Given the description of an element on the screen output the (x, y) to click on. 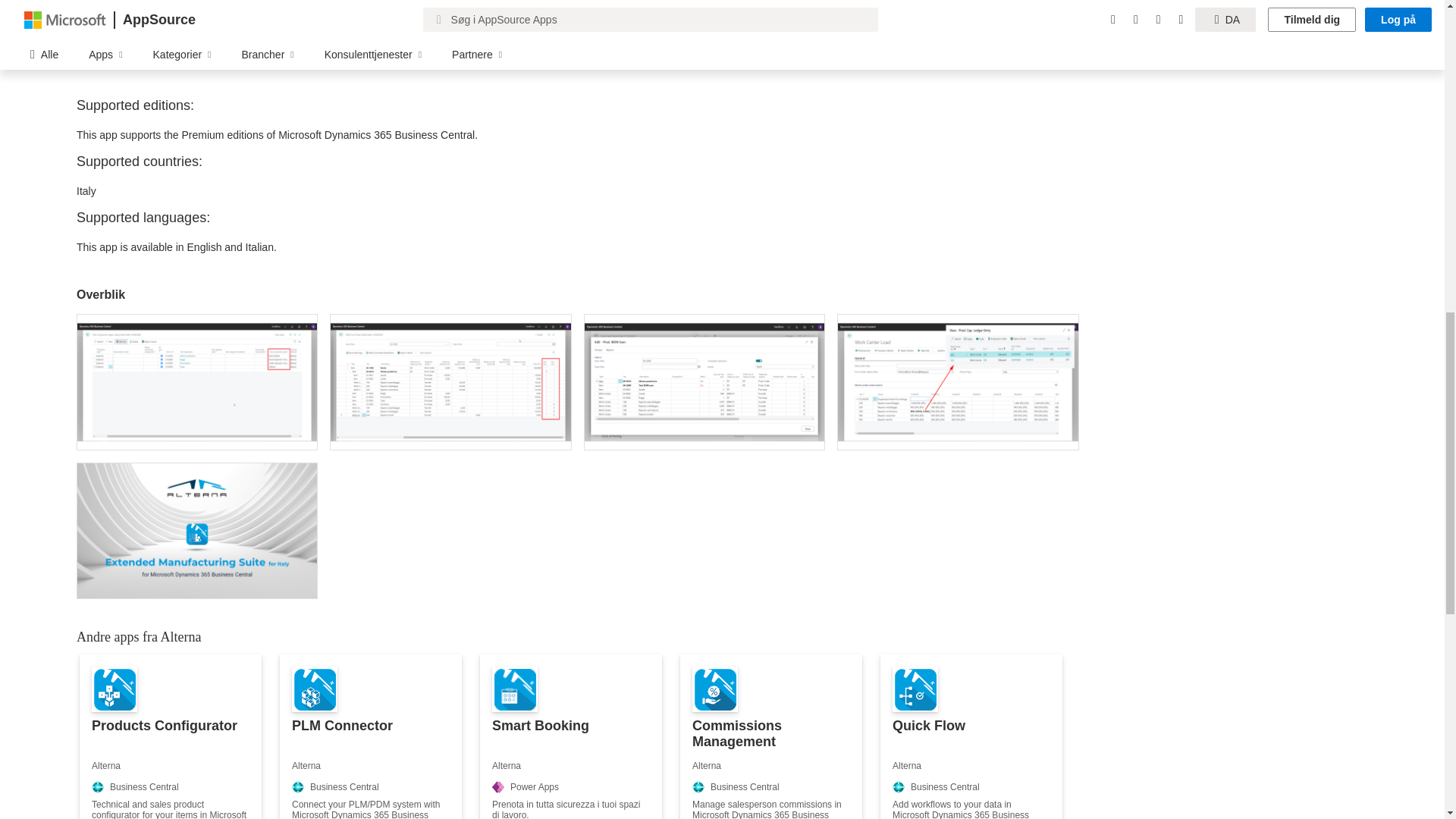
PLM Connector (370, 736)
Commissions Management (770, 736)
Products Configurator (171, 736)
Smart Booking (571, 736)
Quick Flow (971, 736)
